Given the description of an element on the screen output the (x, y) to click on. 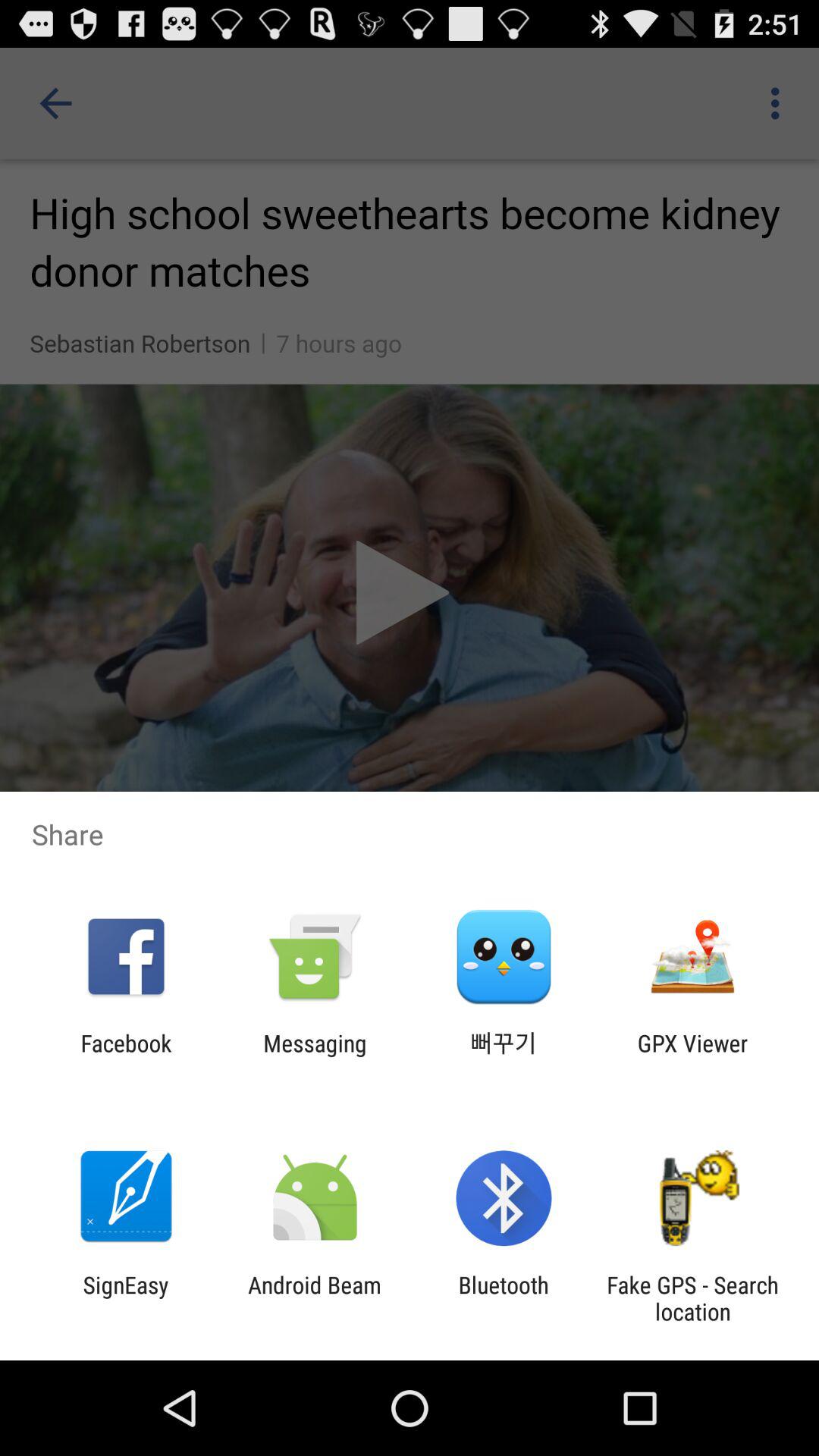
press the icon to the left of the gpx viewer icon (503, 1056)
